Given the description of an element on the screen output the (x, y) to click on. 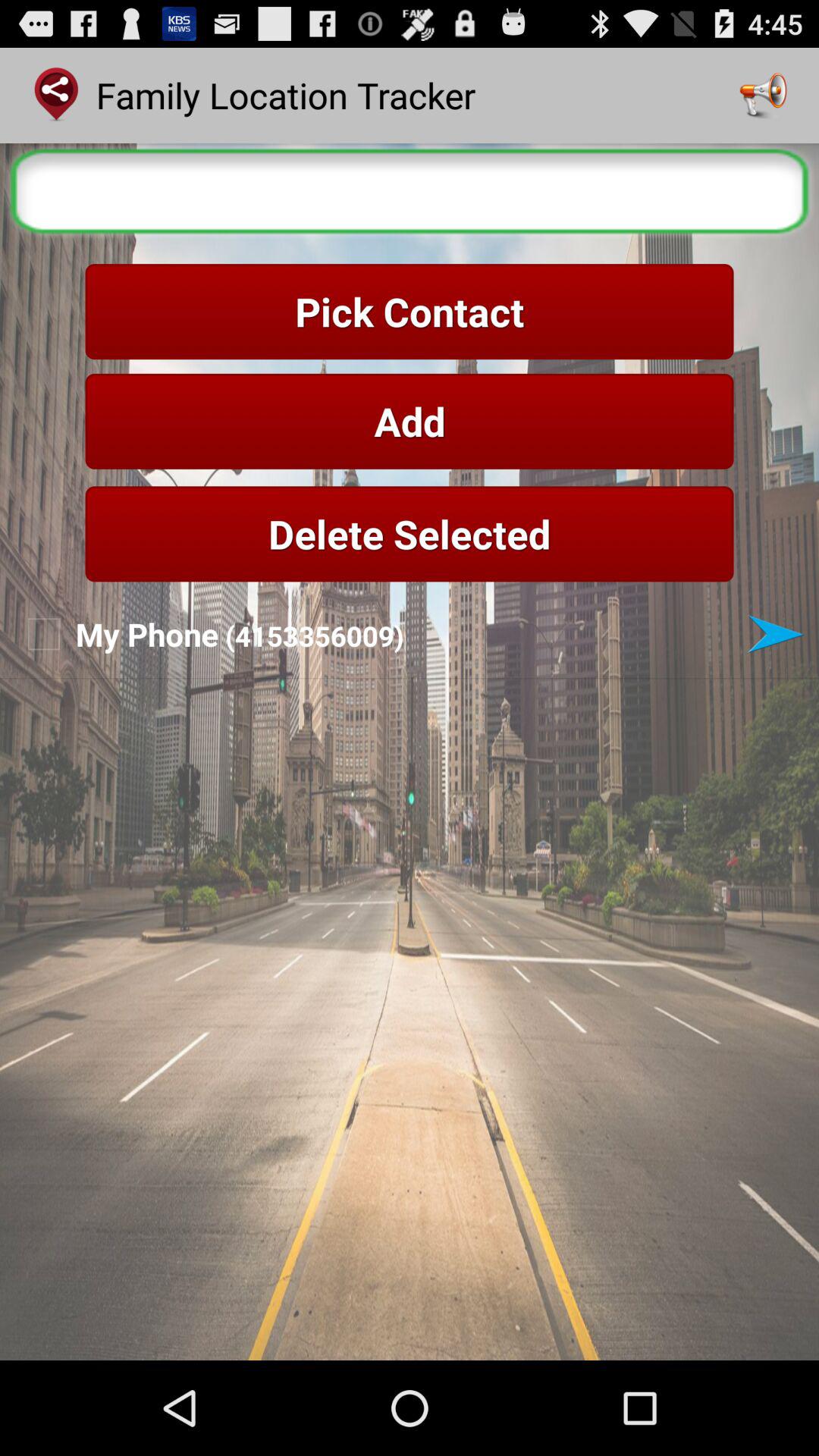
next page (775, 634)
